Given the description of an element on the screen output the (x, y) to click on. 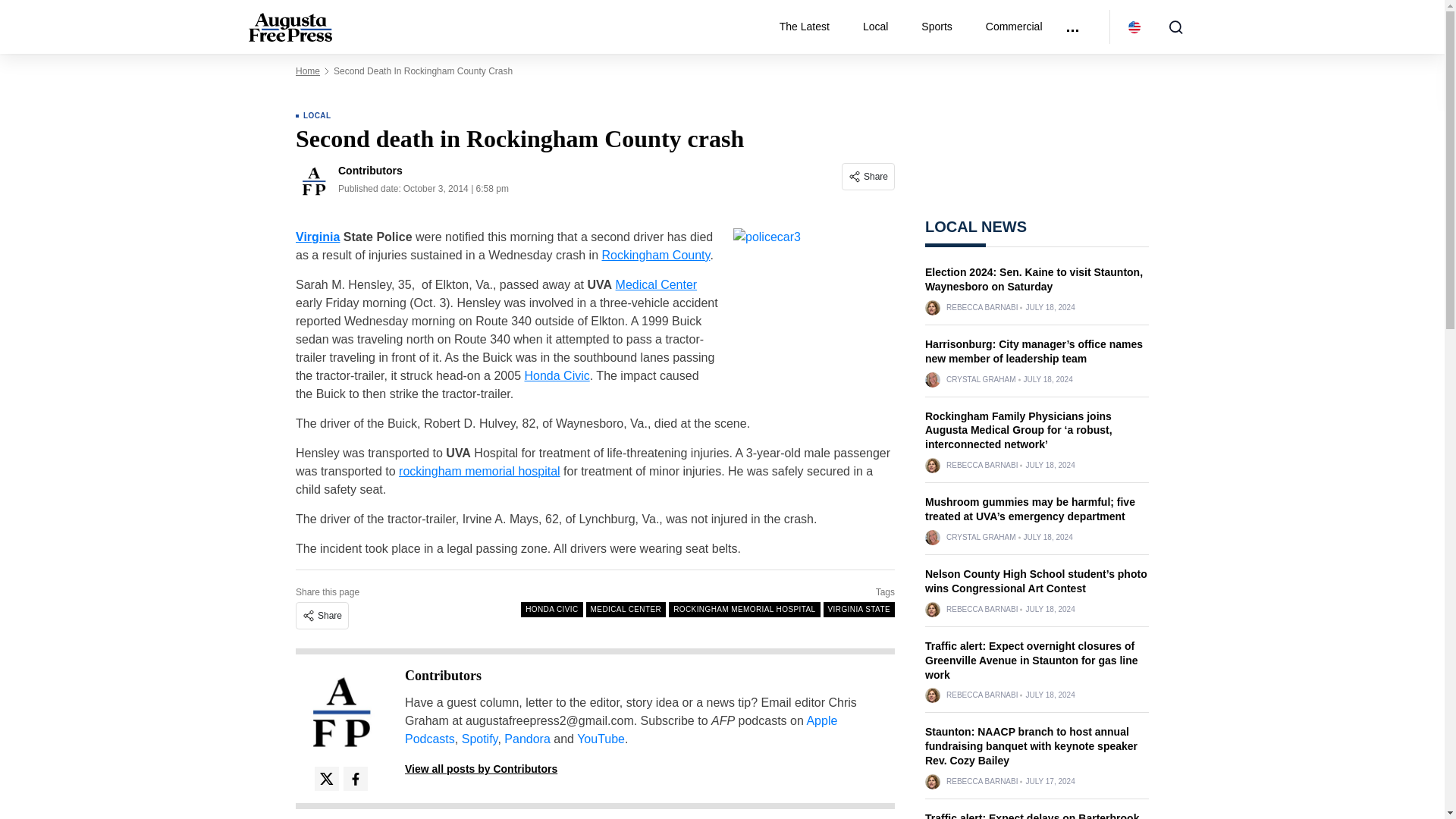
View all articles about Virginia here (317, 236)
Sports (942, 27)
View all articles about Rockingham County here (655, 254)
The Latest (809, 27)
View all articles about rockingham memorial hospital here (479, 471)
Local (881, 27)
View all articles about Honda Civic here (556, 375)
Commercial (1013, 27)
View all articles about Medical Center here (656, 284)
